Given the description of an element on the screen output the (x, y) to click on. 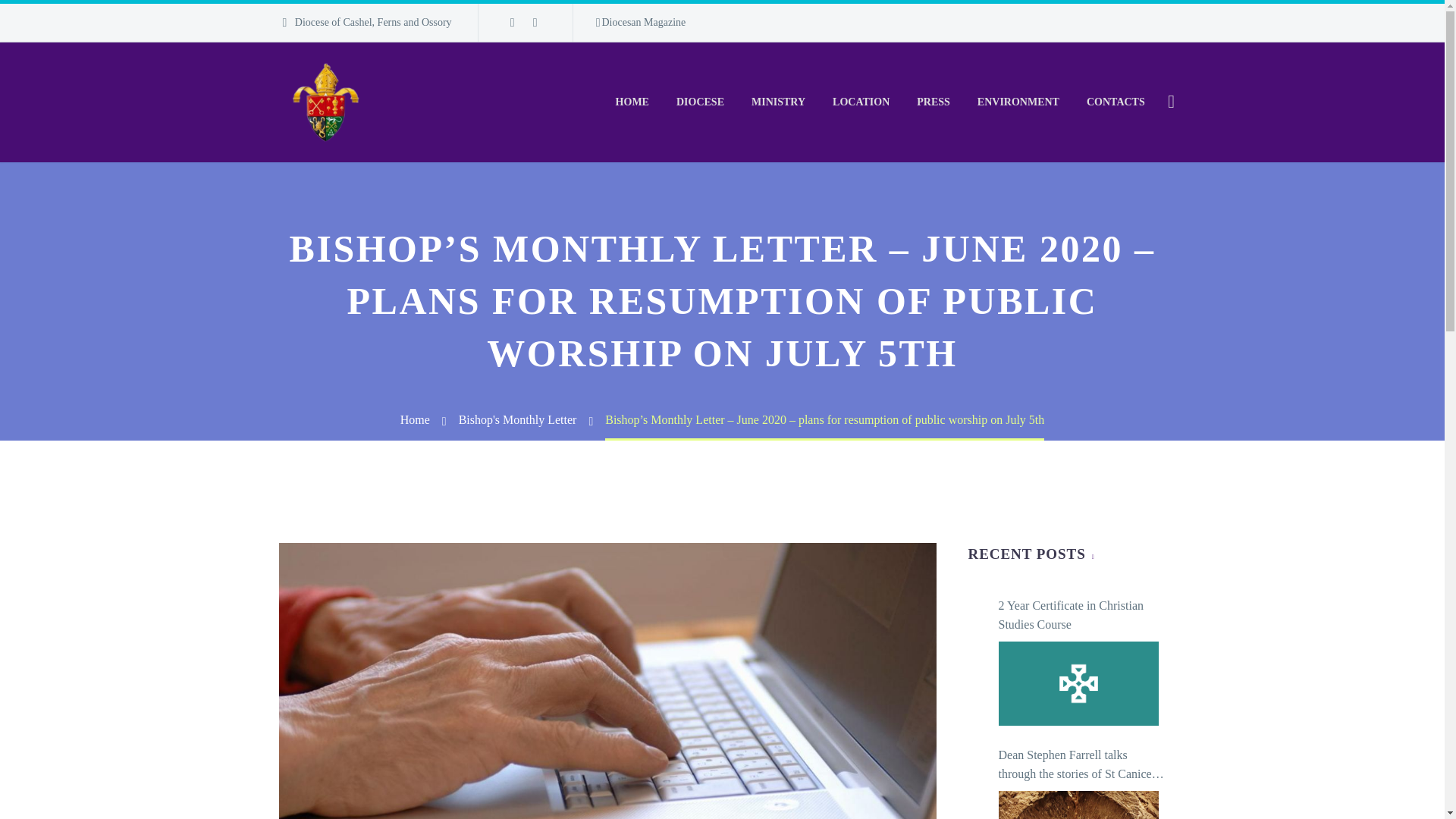
DIOCESE (700, 101)
YouTube (535, 22)
Facebook (512, 22)
MINISTRY (777, 101)
PRESS (932, 101)
HOME (632, 101)
Diocesan Magazine (640, 22)
LOCATION (861, 101)
2 Year Certificate in Christian Studies Course (1077, 683)
